Given the description of an element on the screen output the (x, y) to click on. 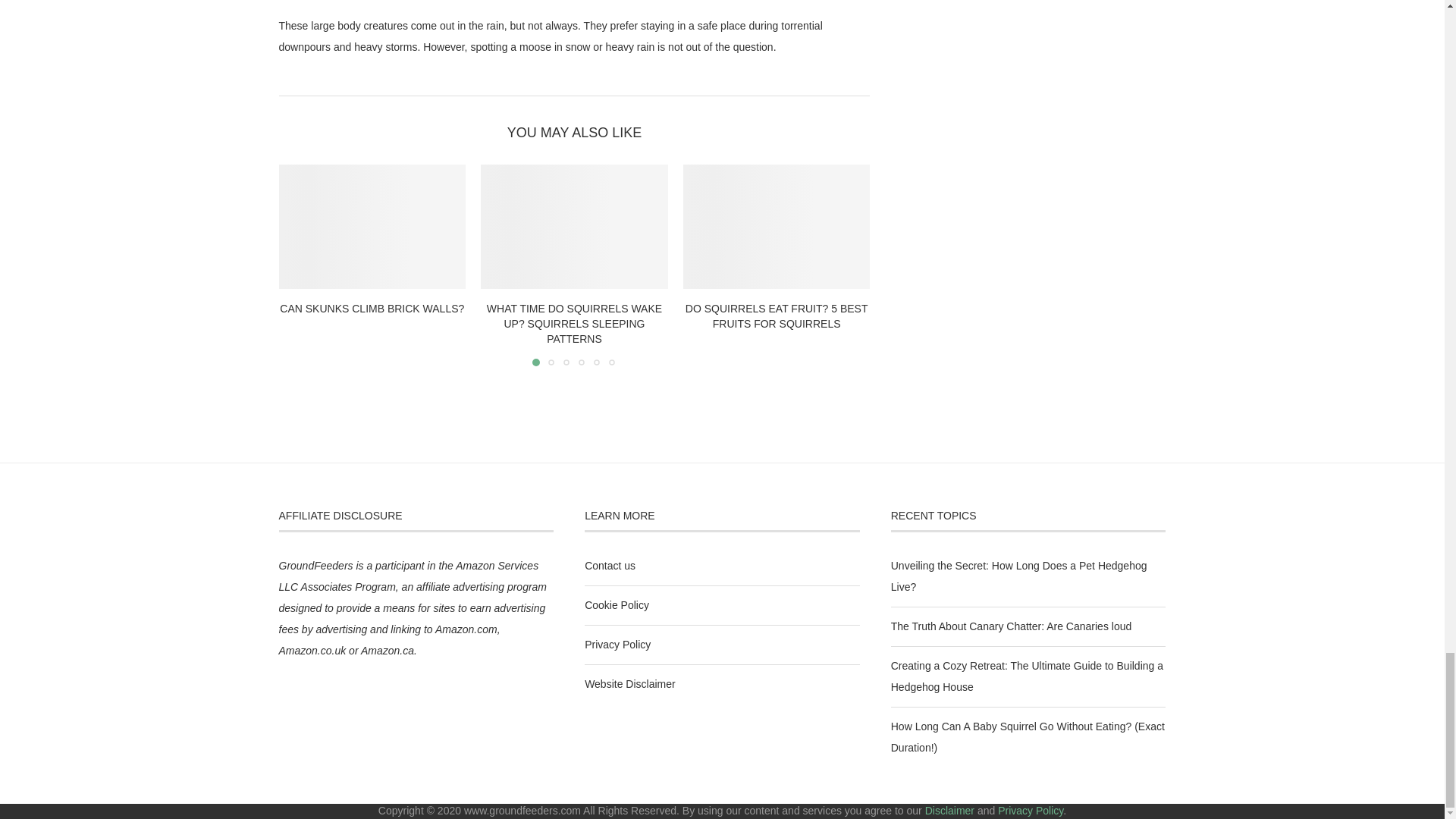
What time do squirrels wake up? Squirrels sleeping patterns (574, 226)
CAN SKUNKS CLIMB BRICK WALLS? (371, 308)
DO SQUIRRELS EAT FRUIT? 5 BEST FRUITS FOR SQUIRRELS (776, 316)
WHAT TIME DO SQUIRRELS WAKE UP? SQUIRRELS SLEEPING PATTERNS (574, 322)
Can skunks climb brick walls? (372, 226)
